Given the description of an element on the screen output the (x, y) to click on. 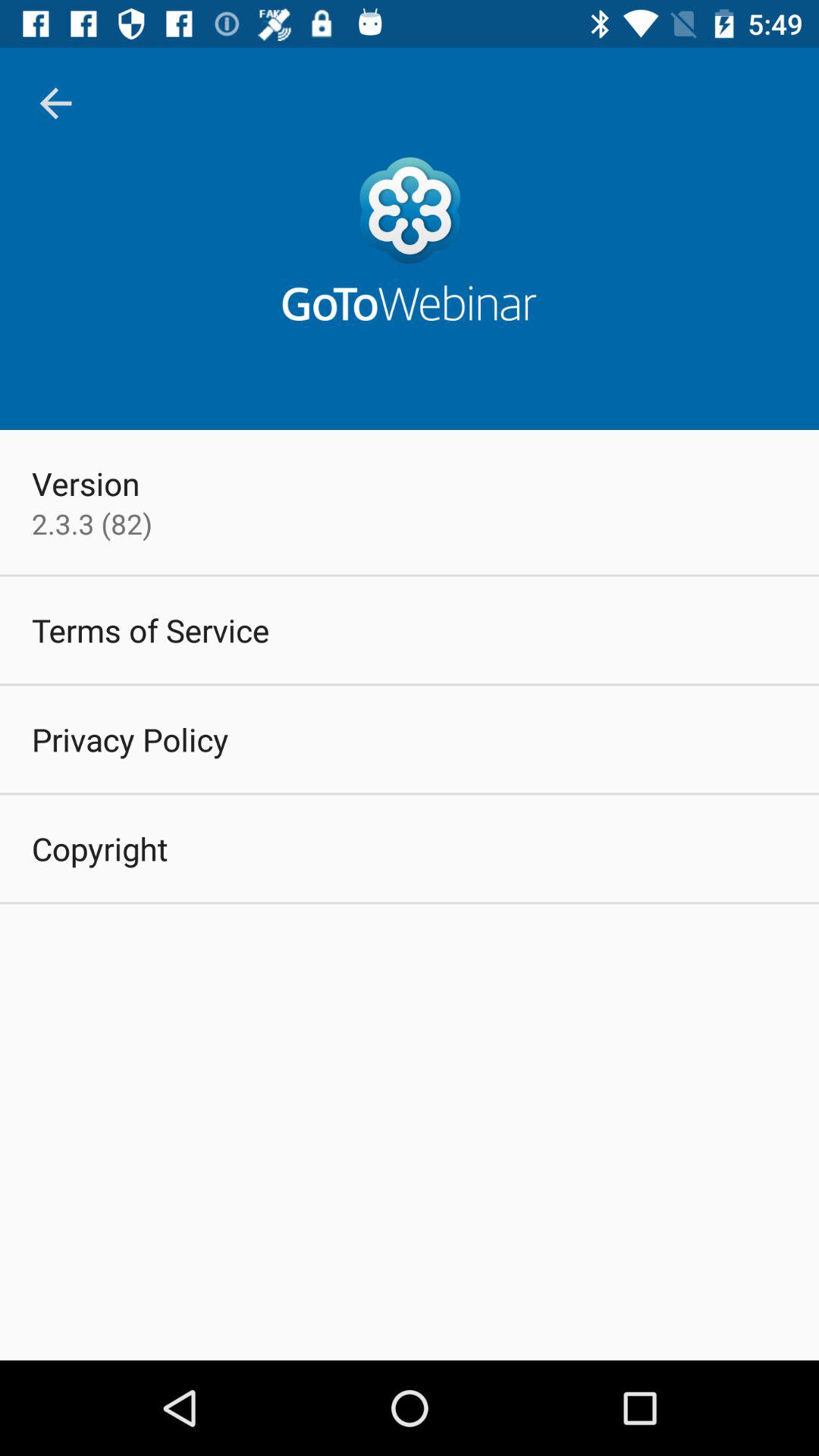
turn on icon above the version item (55, 103)
